Given the description of an element on the screen output the (x, y) to click on. 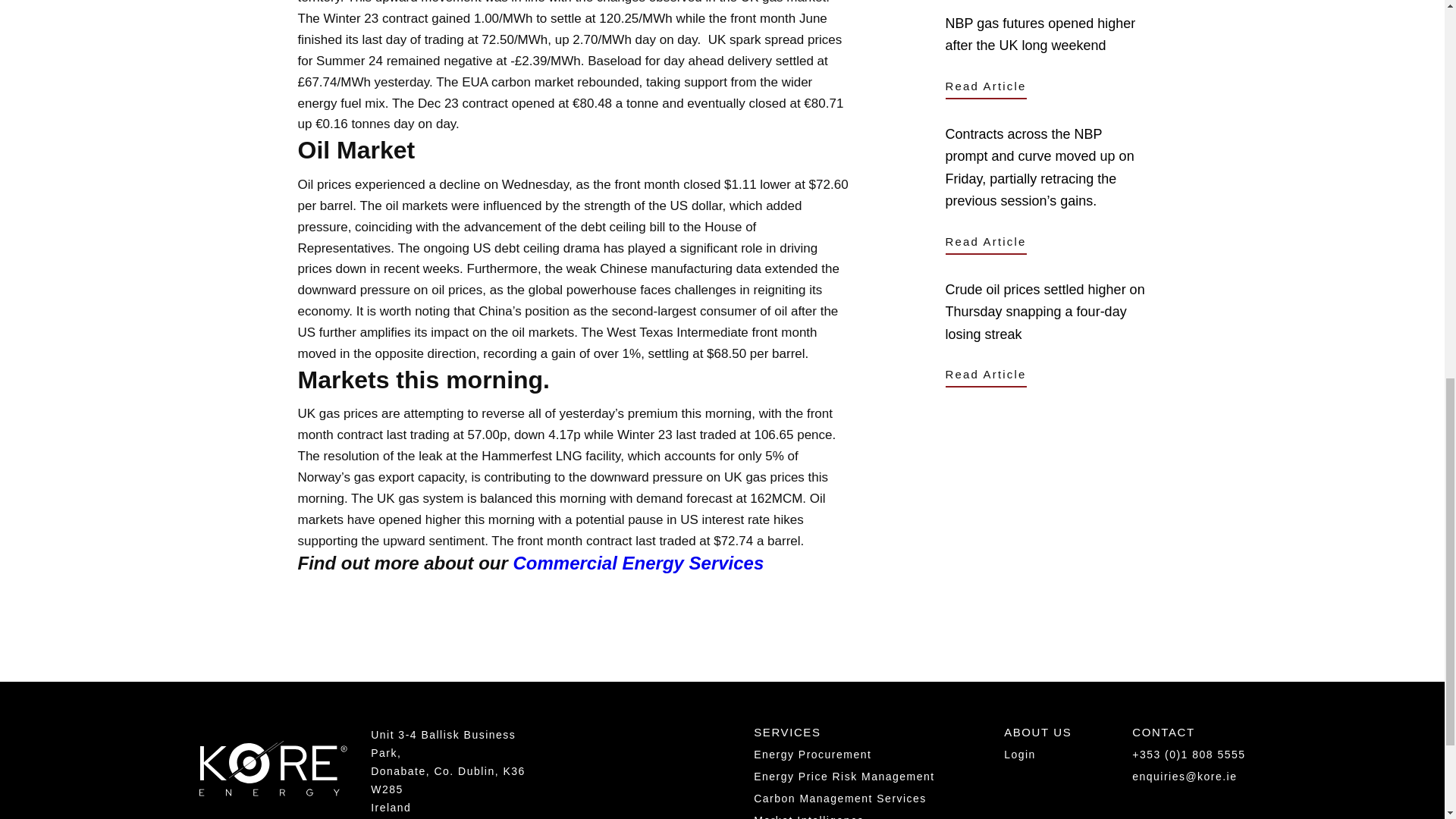
Energy Procurement (812, 754)
Commercial Energy Services (637, 562)
Carbon Management Services (840, 798)
NBP gas futures opened higher after the UK long weekend (1045, 35)
Login (1019, 754)
CONTACT (1162, 735)
Read Article (985, 375)
Read Article (985, 87)
SERVICES (787, 735)
